Given the description of an element on the screen output the (x, y) to click on. 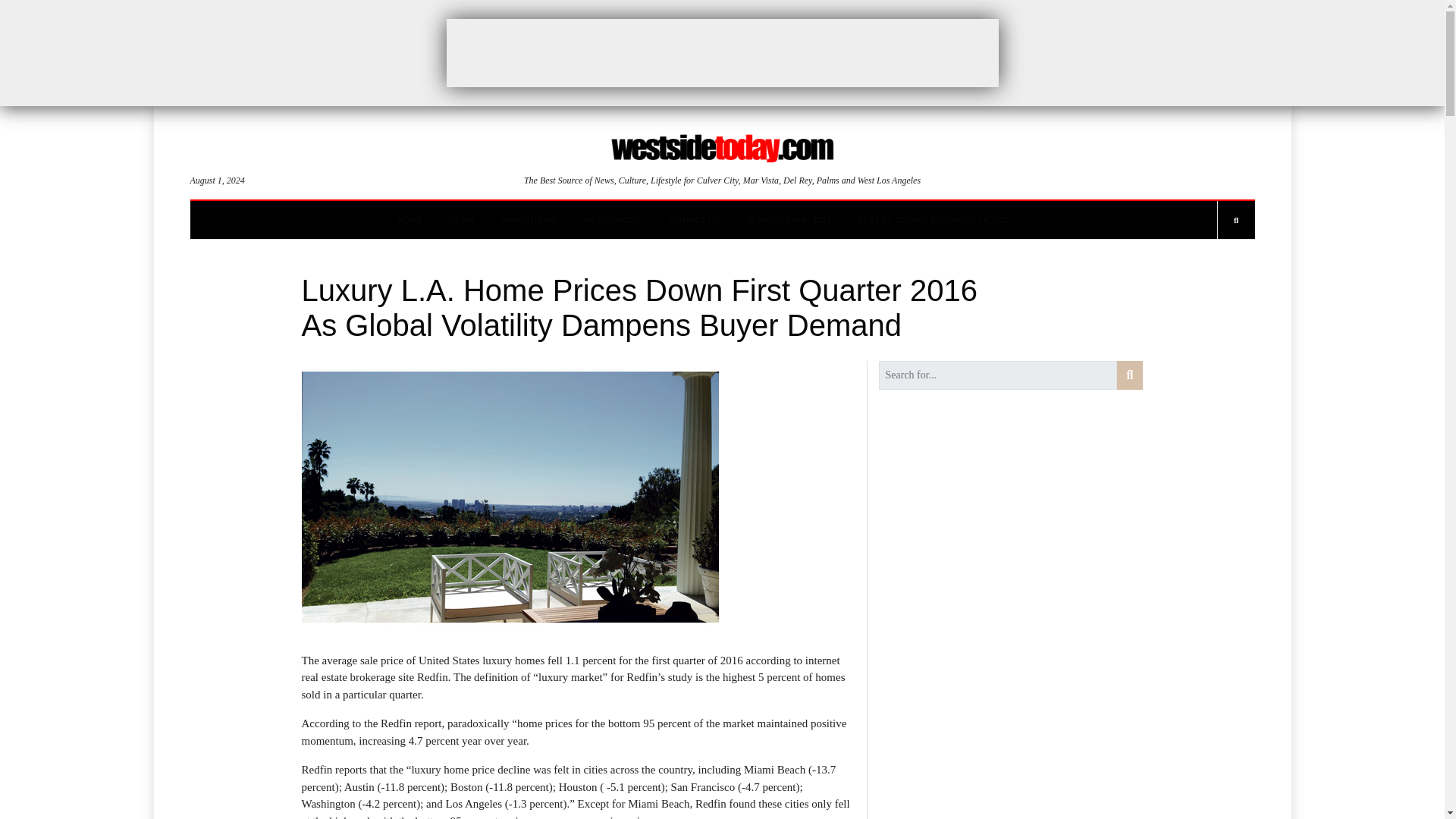
ADVERTISING (528, 219)
SUMMER CAMP 2024 (787, 219)
3rd party ad content (721, 52)
PR SERVICES (611, 219)
CONTACT US (693, 219)
